Given the description of an element on the screen output the (x, y) to click on. 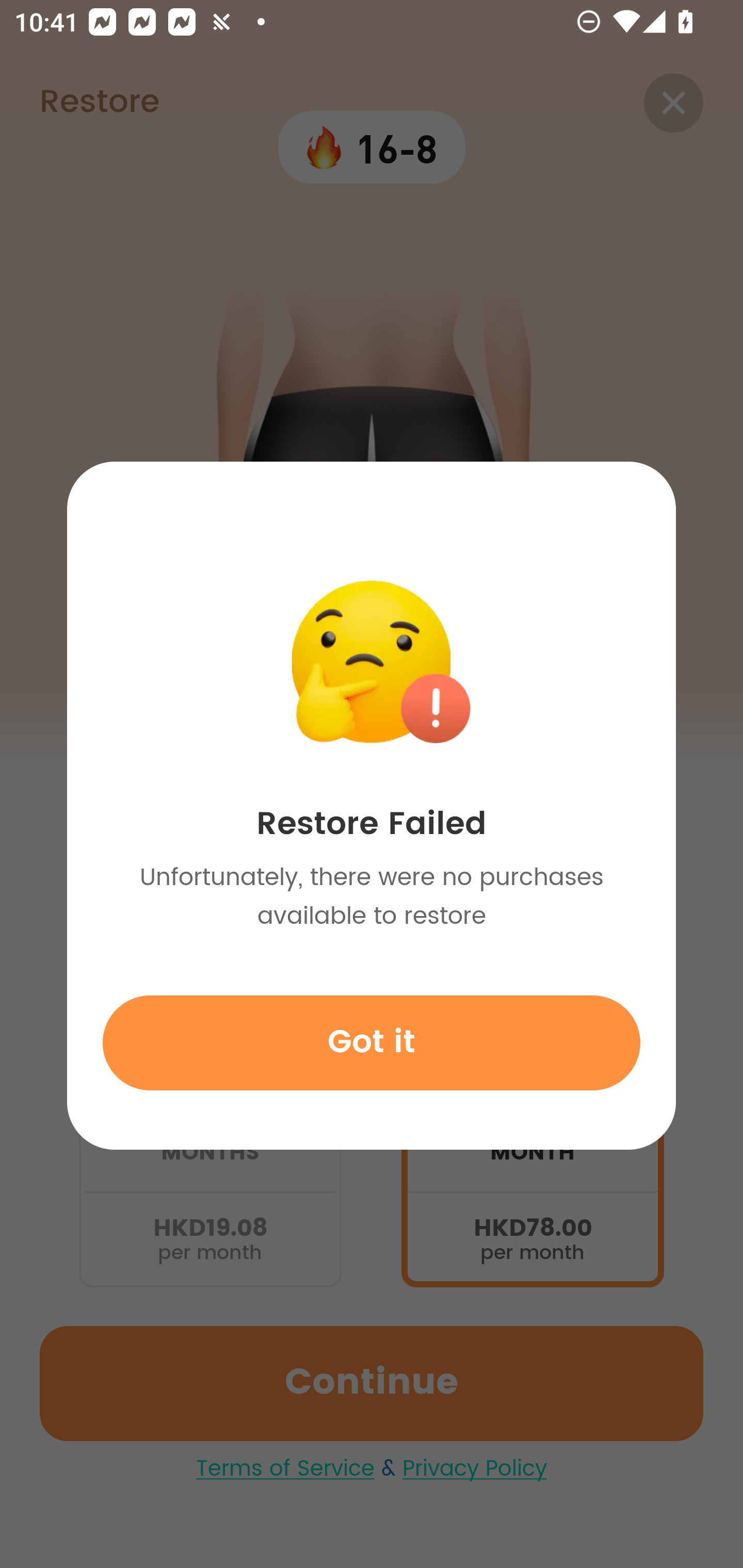
Got it (371, 1042)
